Given the description of an element on the screen output the (x, y) to click on. 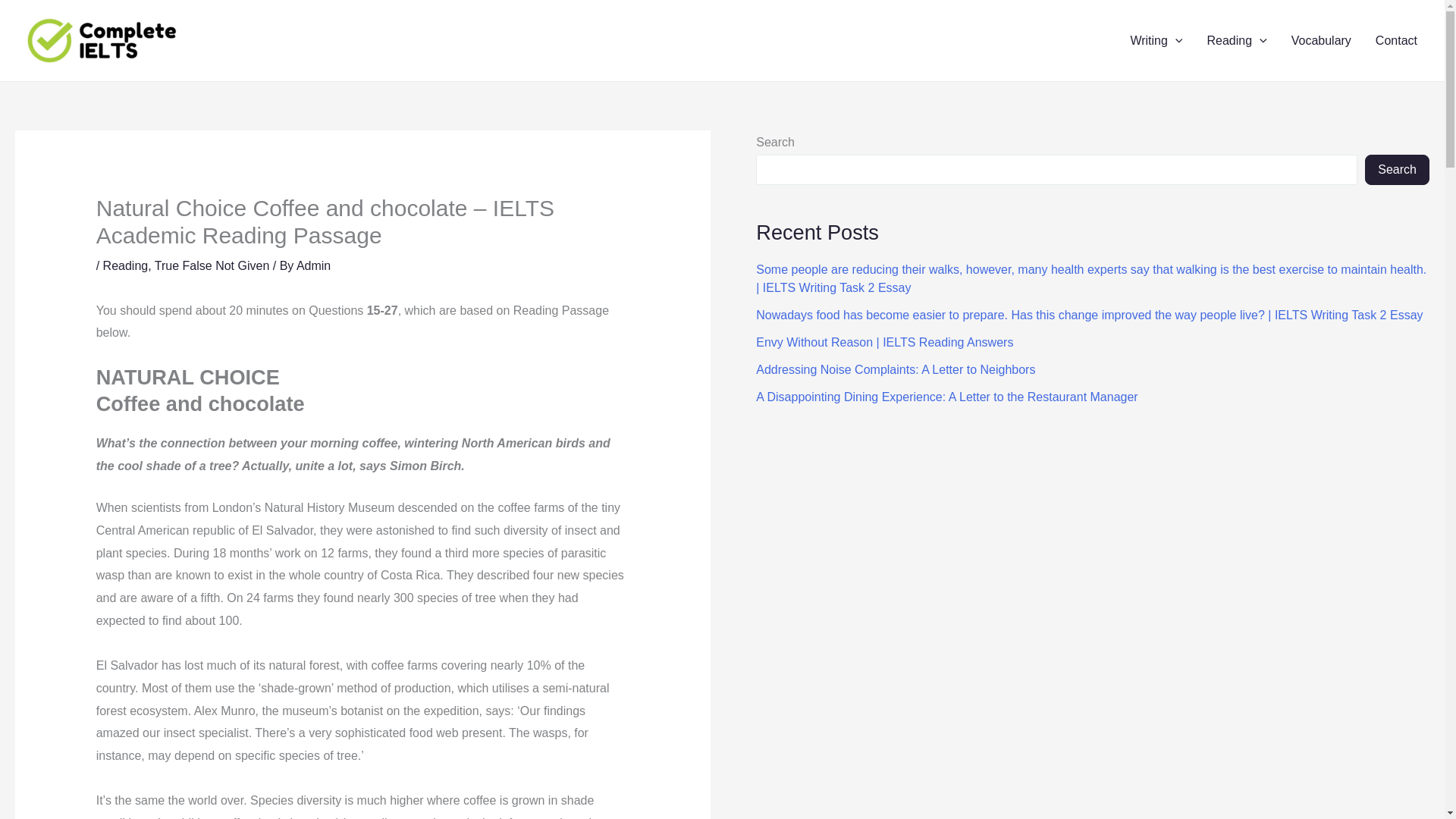
Contact (1395, 40)
Addressing Noise Complaints: A Letter to Neighbors (895, 369)
Reading (1235, 40)
Writing (1155, 40)
Reading (125, 265)
View all posts by Admin (313, 265)
Admin (313, 265)
Search (1397, 169)
True False Not Given (211, 265)
Vocabulary (1320, 40)
